Given the description of an element on the screen output the (x, y) to click on. 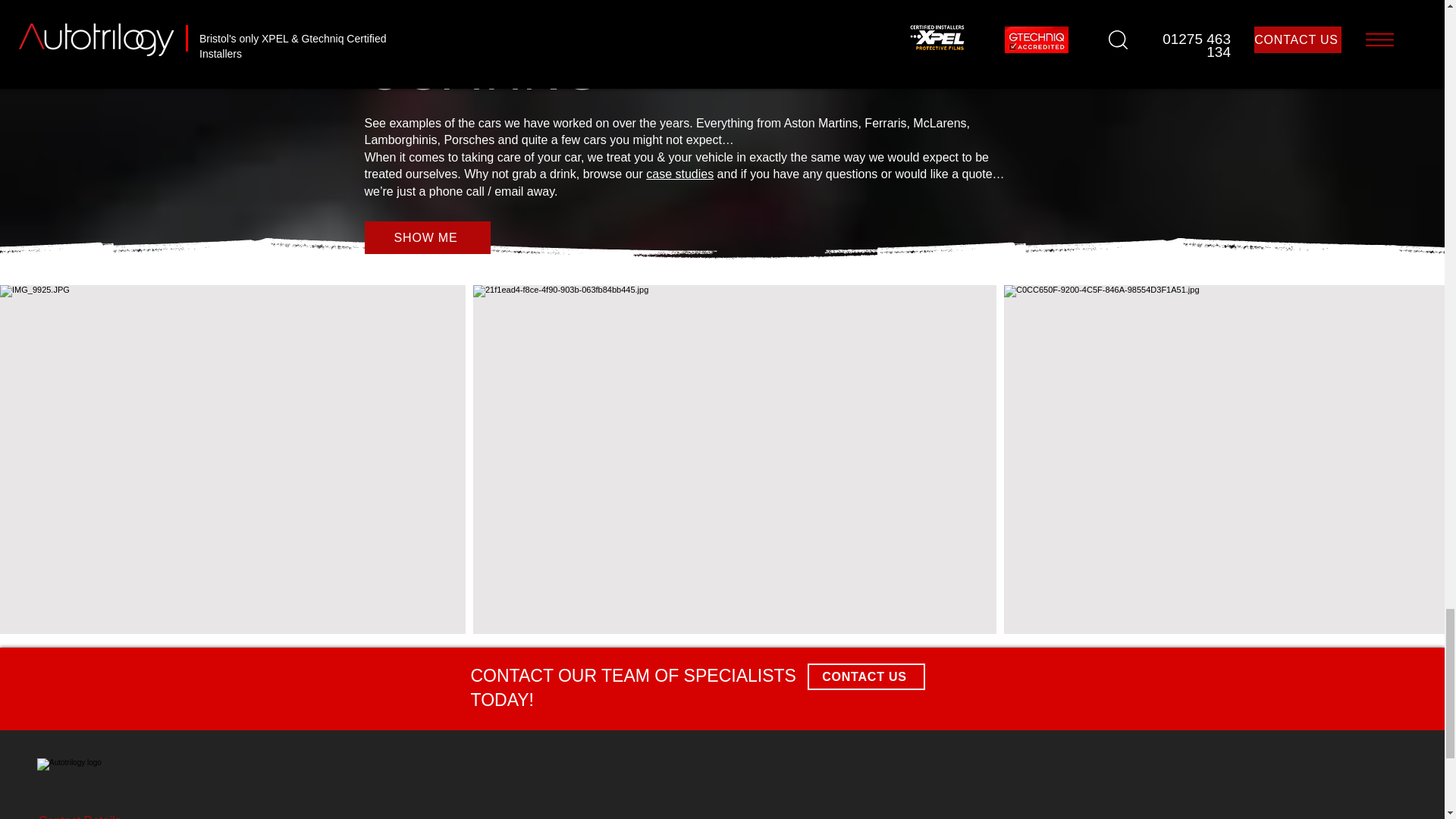
SHOW ME (426, 237)
case studies (679, 173)
